Given the description of an element on the screen output the (x, y) to click on. 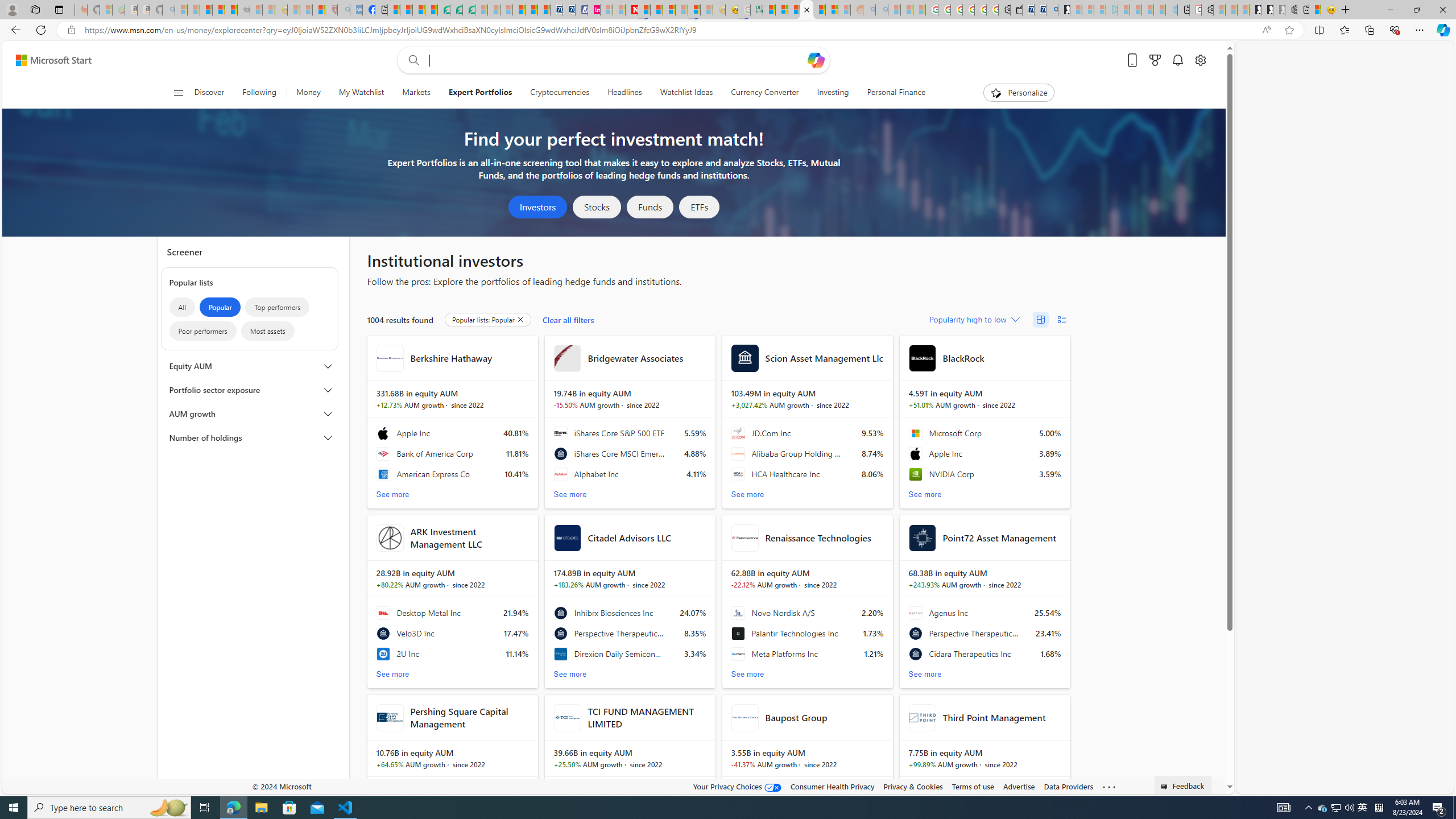
ETFs (699, 206)
Poor performers (201, 330)
Investors (537, 206)
Card View (1040, 319)
Jobs - lastminute.com Investor Portal (593, 9)
